Given the description of an element on the screen output the (x, y) to click on. 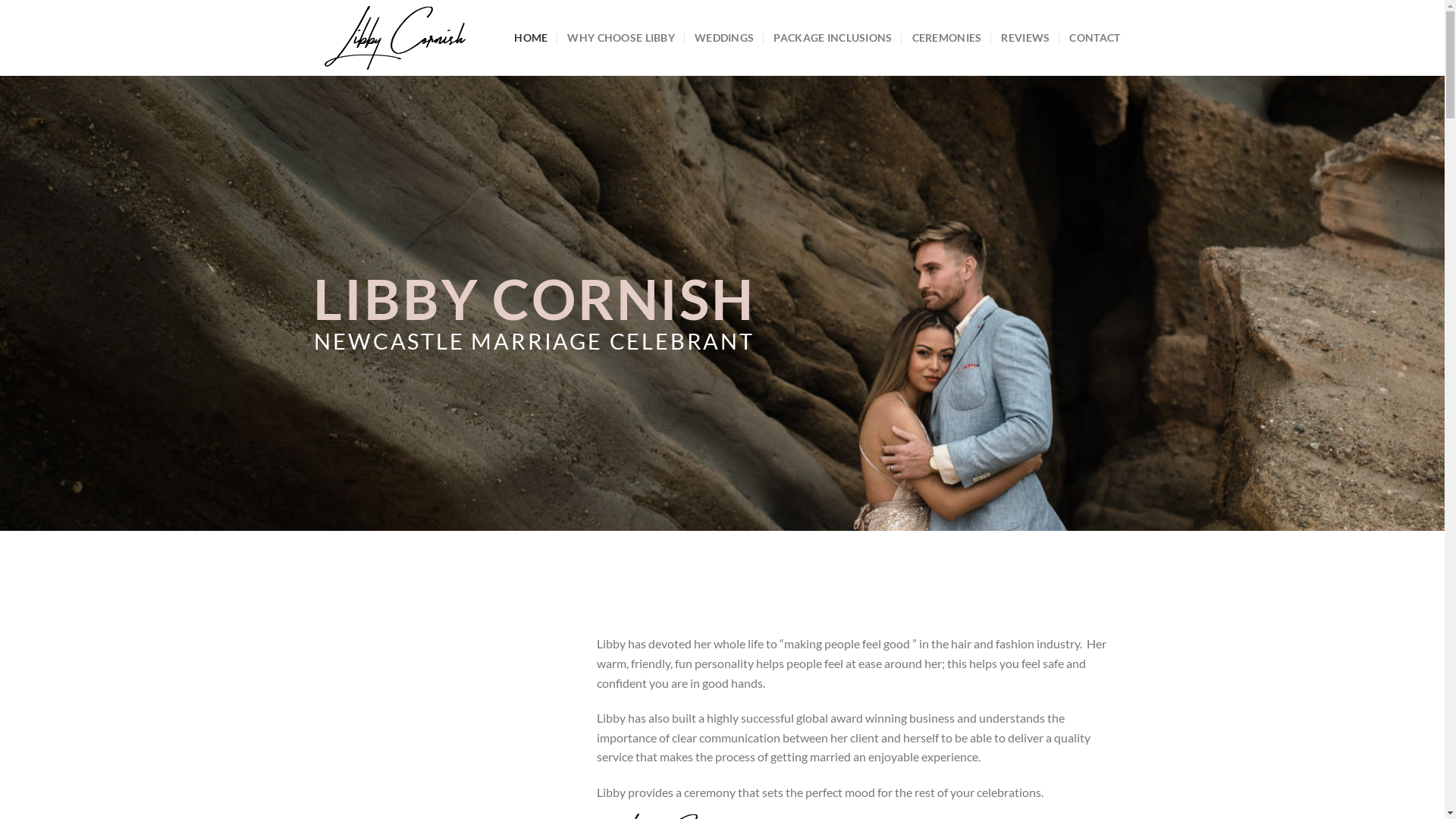
CEREMONIES Element type: text (947, 37)
Skip to content Element type: text (0, 0)
PACKAGE INCLUSIONS Element type: text (832, 37)
WEDDINGS Element type: text (723, 37)
HOME Element type: text (530, 37)
CONTACT Element type: text (1094, 37)
REVIEWS Element type: text (1025, 37)
Introduction to Libby as your Celebrant Element type: hover (449, 744)
WHY CHOOSE LIBBY Element type: text (620, 37)
